Given the description of an element on the screen output the (x, y) to click on. 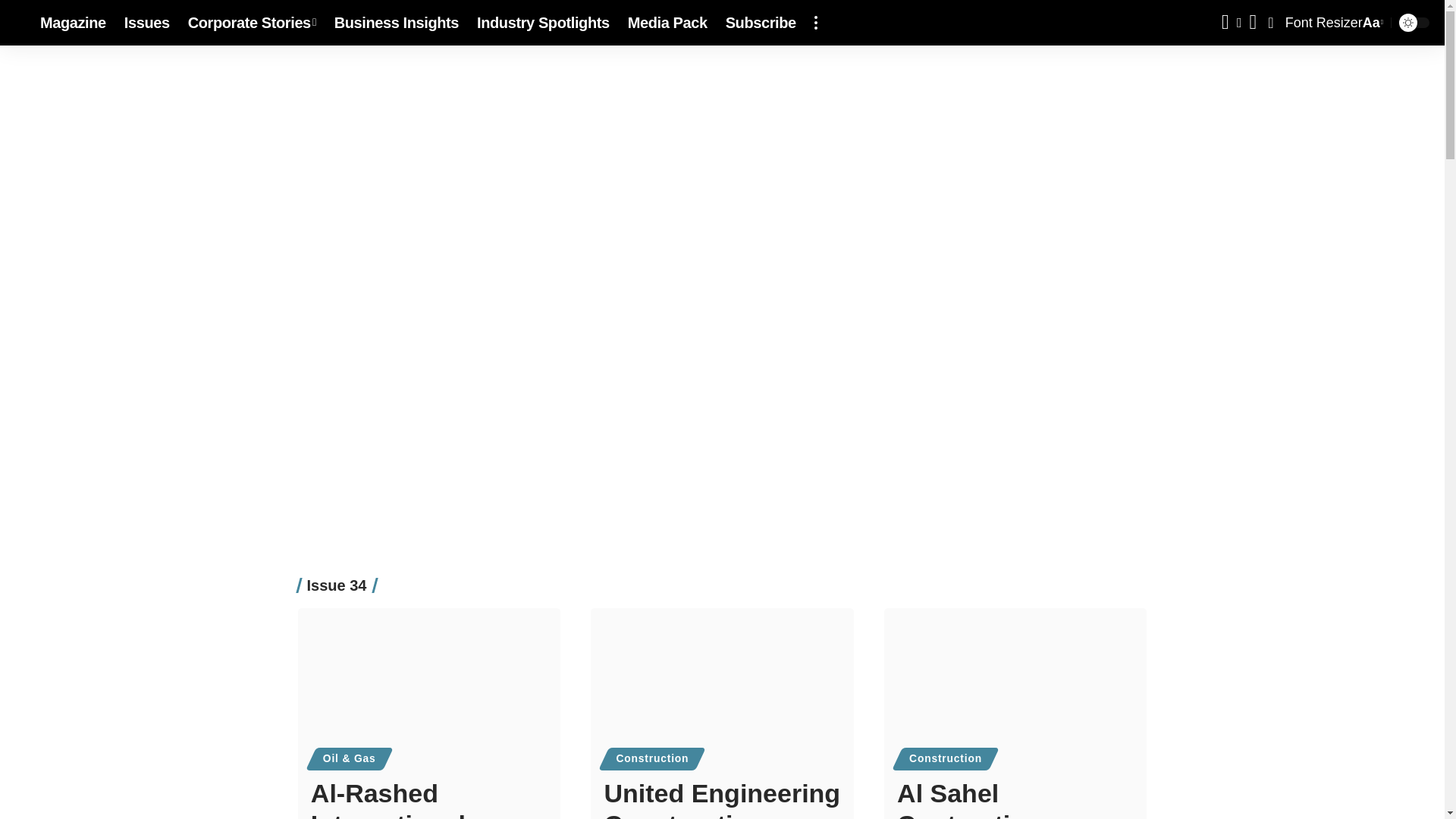
Media Pack (667, 22)
Corporate Stories (251, 22)
Subscribe (760, 22)
Business Insights (395, 22)
Al Sahel Contracting Company LLC : Upholding Quality (1015, 686)
Issues (147, 22)
Industry Spotlights (542, 22)
Subscribe to EME Outlook Magazine (760, 22)
Magazine (72, 22)
